Given the description of an element on the screen output the (x, y) to click on. 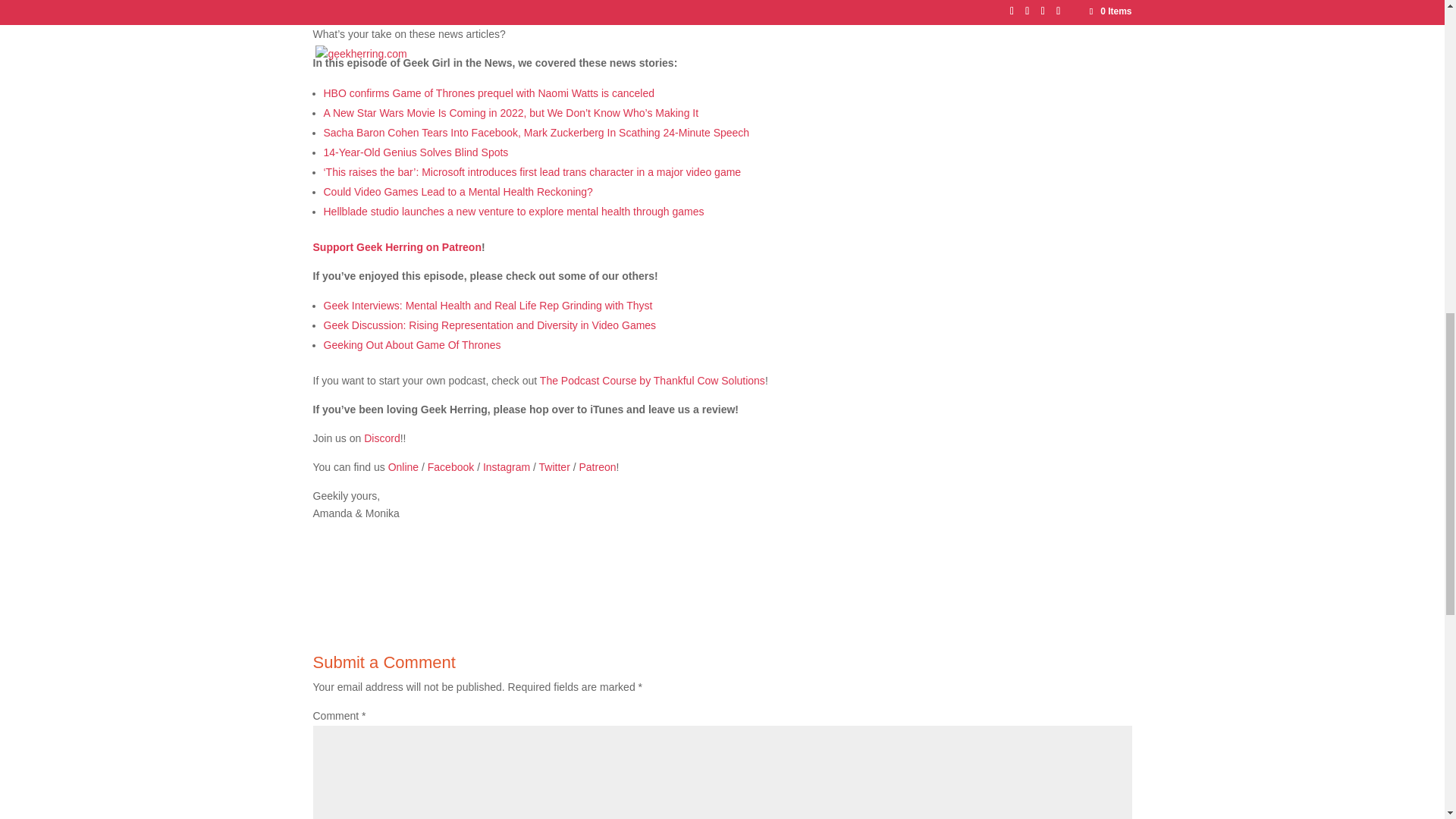
Twitter (554, 467)
Support Geek Herring on Patreon (396, 246)
Discord (381, 438)
Could Video Games Lead to a Mental Health Reckoning? (457, 191)
Instagram (506, 467)
Geeking Out About Game Of Thrones (411, 345)
Facebook (451, 467)
14-Year-Old Genius Solves Blind Spots (415, 152)
The Podcast Course by Thankful Cow Solutions (652, 380)
Online (403, 467)
